Given the description of an element on the screen output the (x, y) to click on. 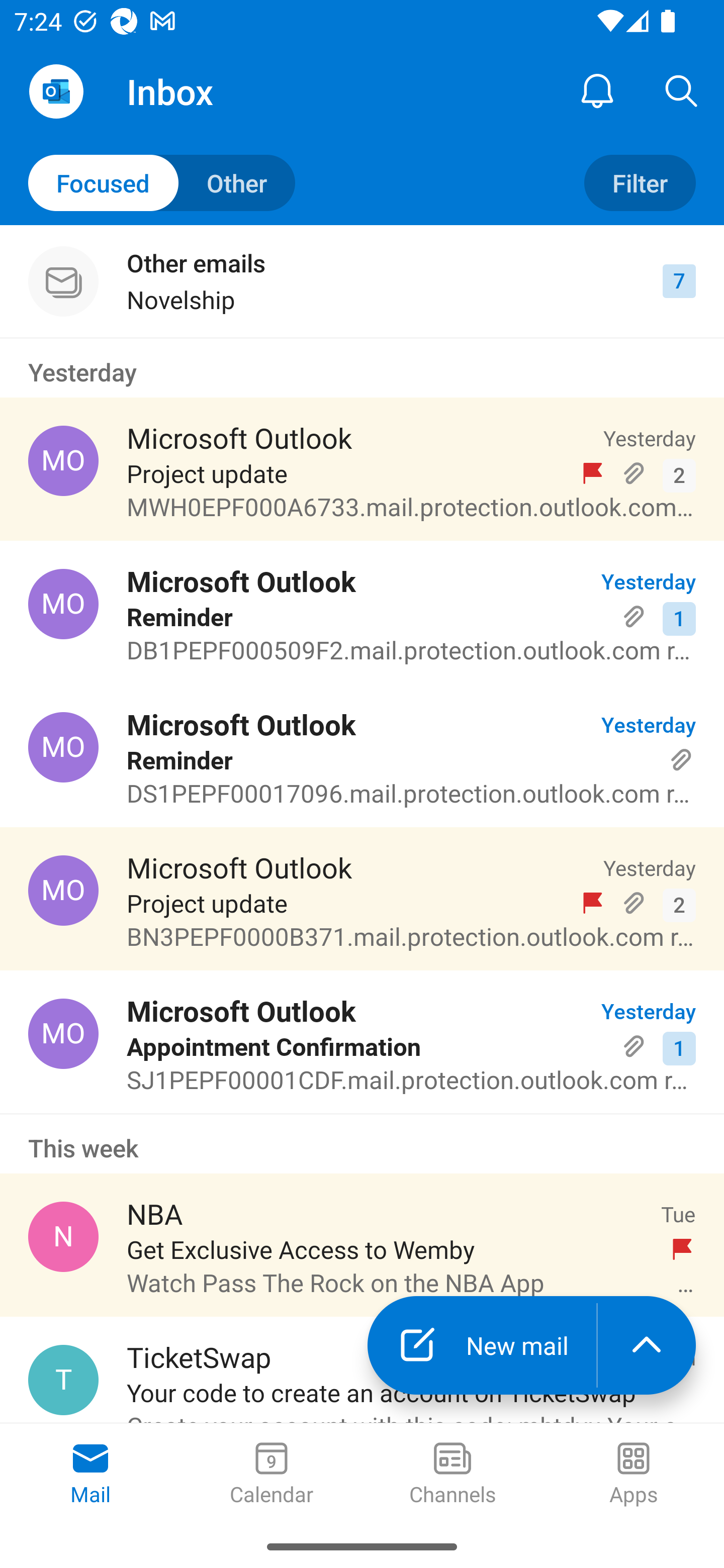
Notification Center (597, 90)
Search, ,  (681, 90)
Open Navigation Drawer (55, 91)
Toggle to other mails (161, 183)
Filter (639, 183)
Other emails Novelship 7 (362, 281)
NBA, NBA@email.nba.com (63, 1236)
New mail (481, 1344)
launch the extended action menu (646, 1344)
TicketSwap, info@ticketswap.com (63, 1380)
Calendar (271, 1474)
Channels (452, 1474)
Apps (633, 1474)
